Given the description of an element on the screen output the (x, y) to click on. 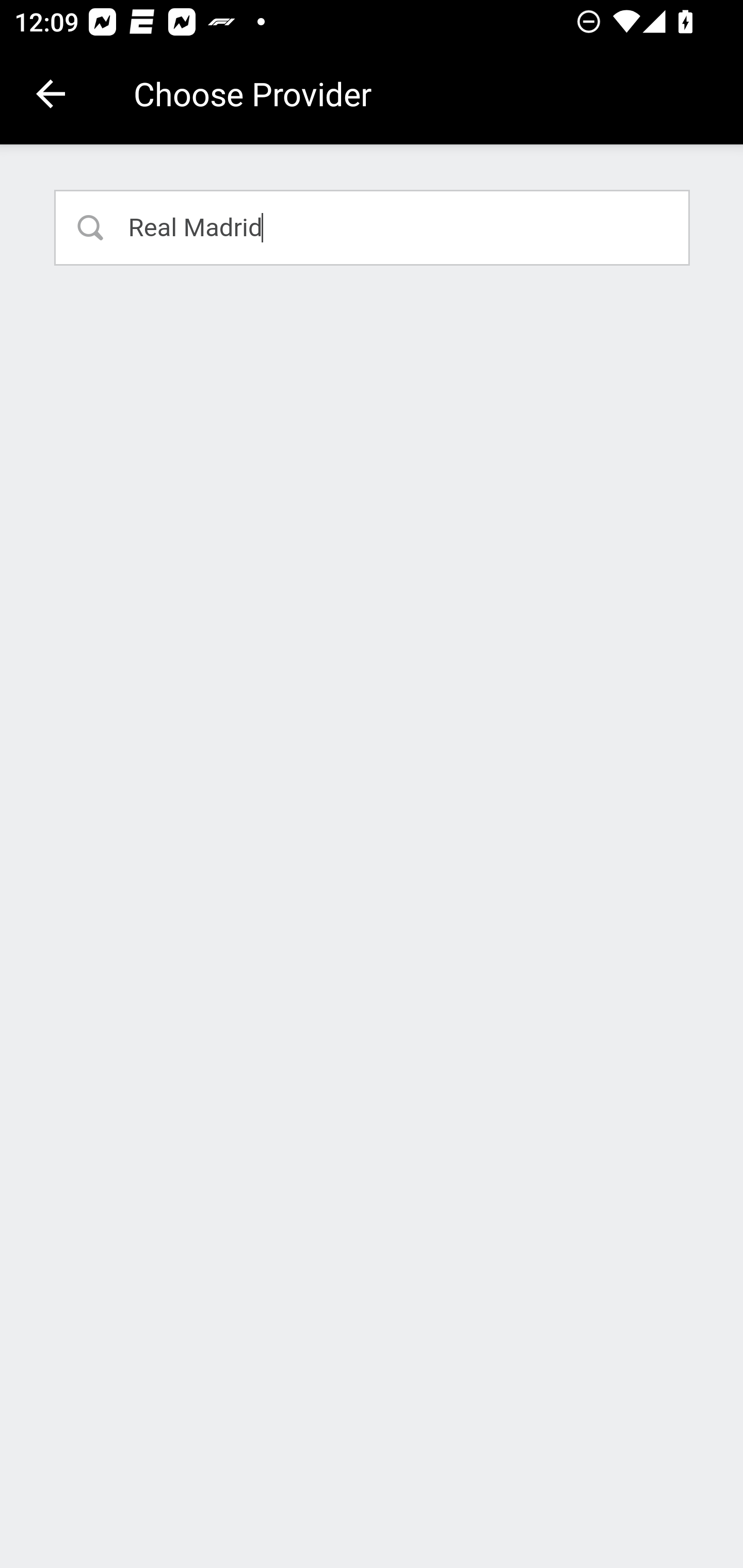
Navigate up (50, 93)
Real Madrid (372, 227)
